Given the description of an element on the screen output the (x, y) to click on. 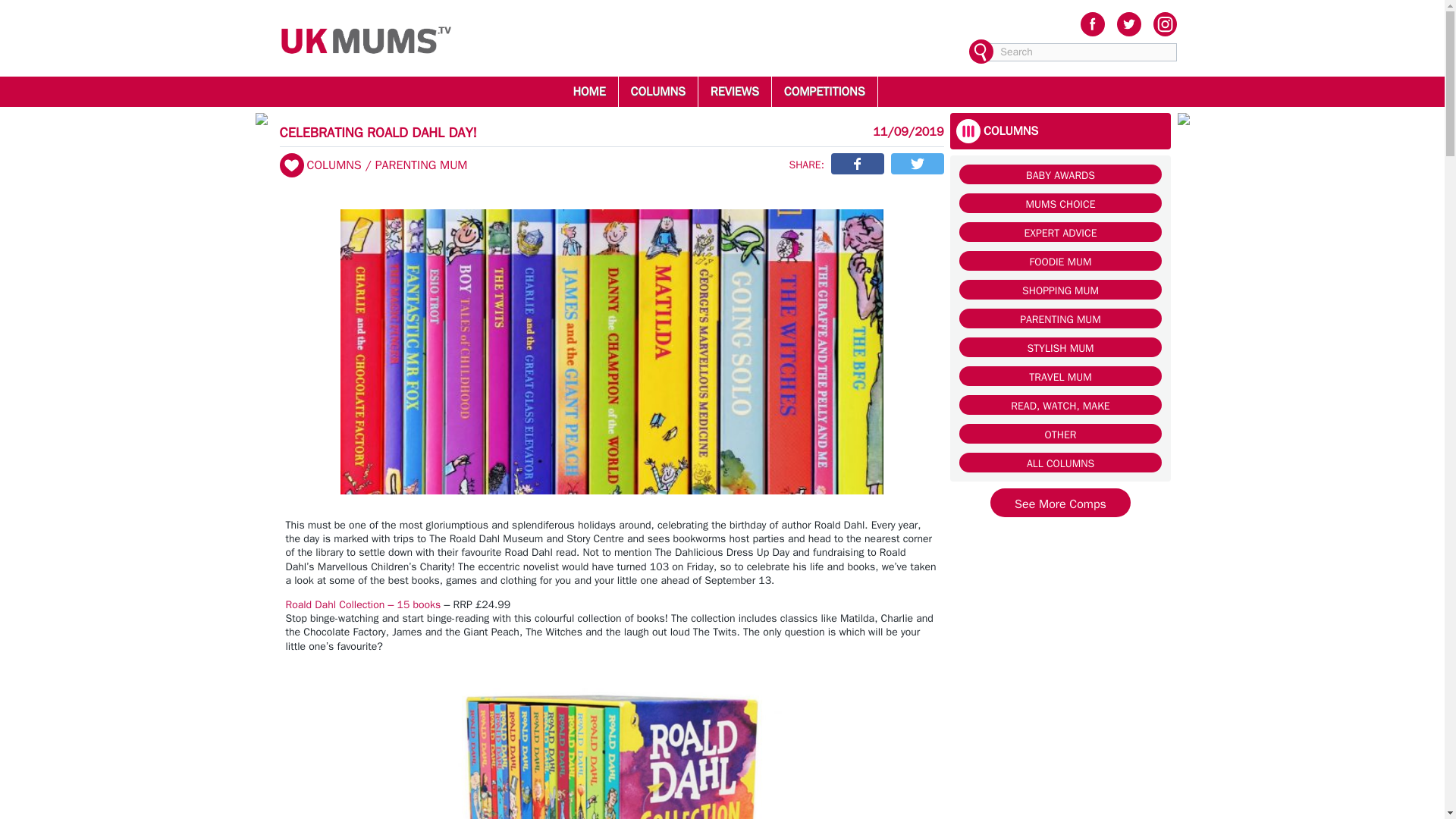
COMPETITIONS (824, 91)
REVIEWS (734, 91)
COLUMNS (657, 91)
HOME (588, 91)
